Given the description of an element on the screen output the (x, y) to click on. 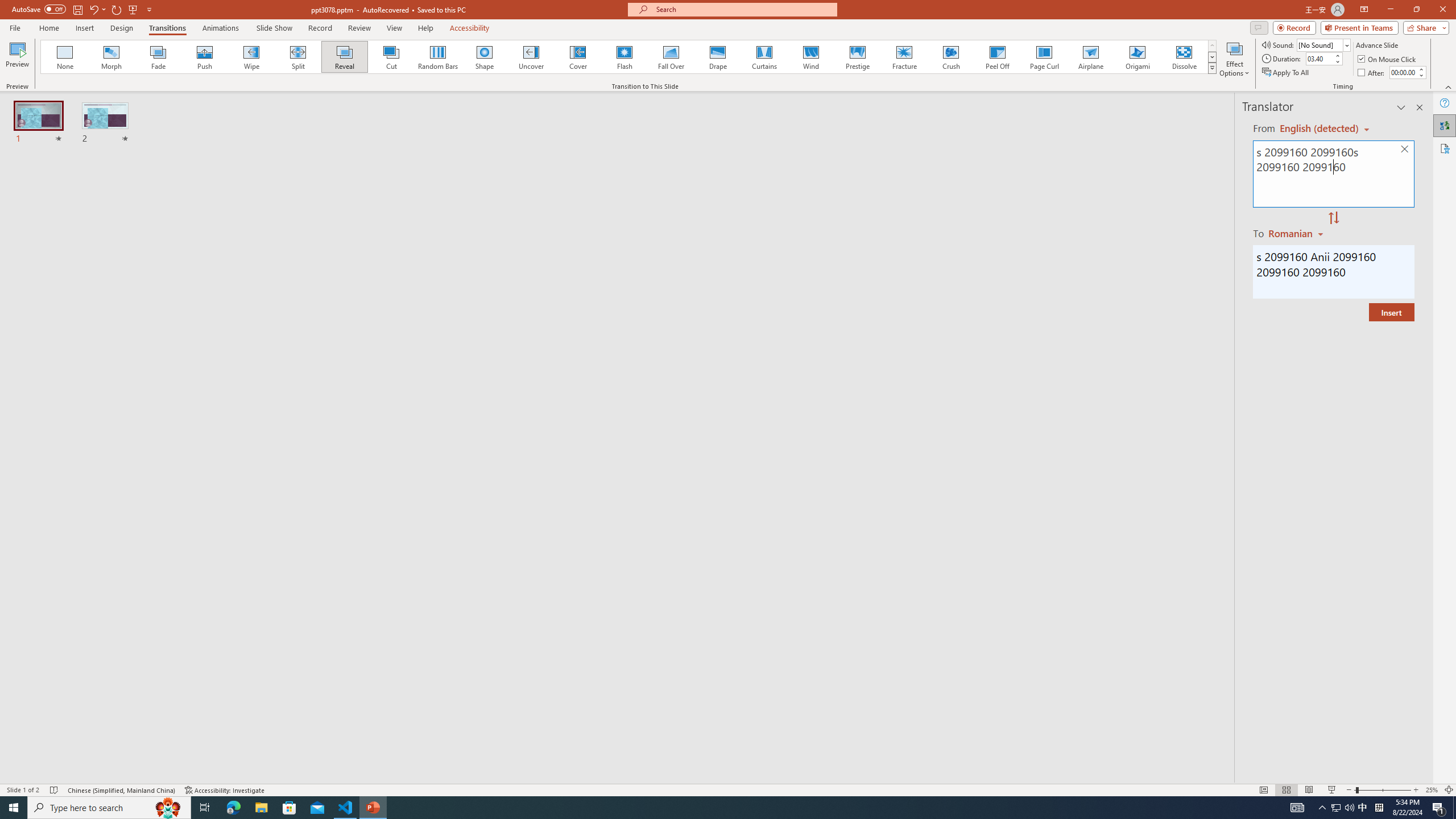
Zoom 25% (1431, 790)
Wipe (251, 56)
Curtains (764, 56)
Dissolve (1183, 56)
Fall Over (670, 56)
Origami (1136, 56)
